Given the description of an element on the screen output the (x, y) to click on. 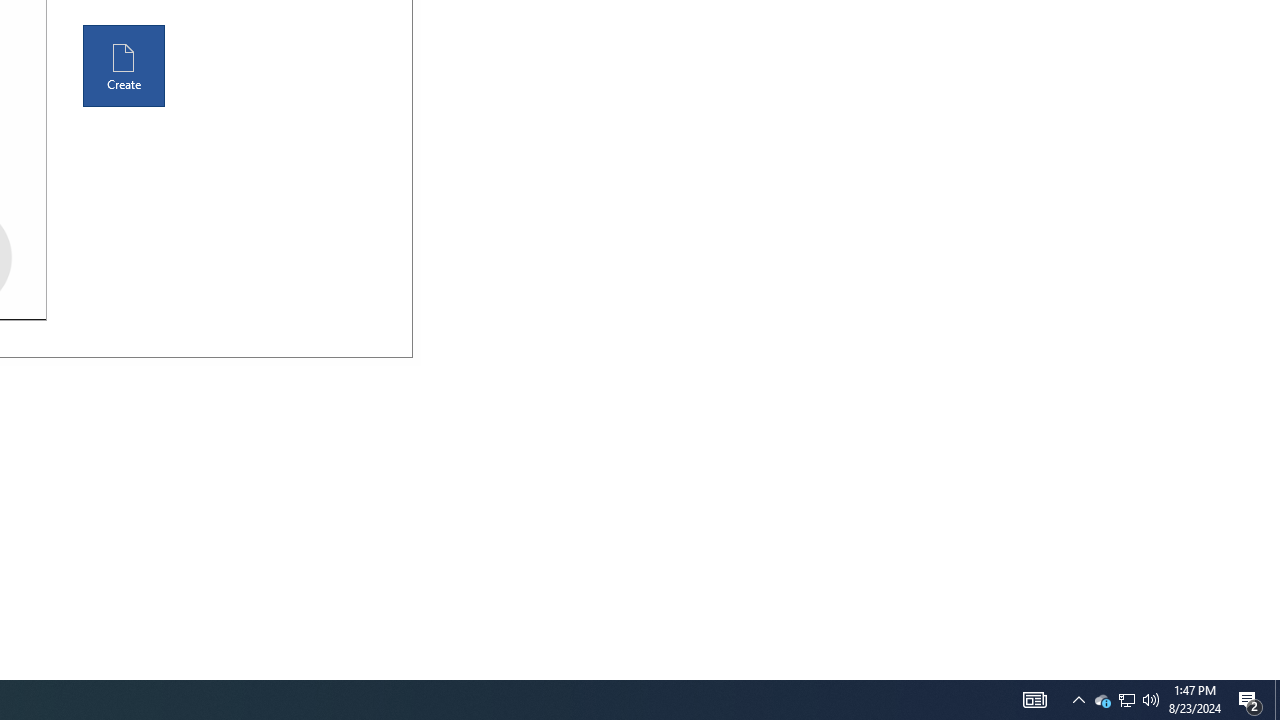
Create (124, 66)
